Given the description of an element on the screen output the (x, y) to click on. 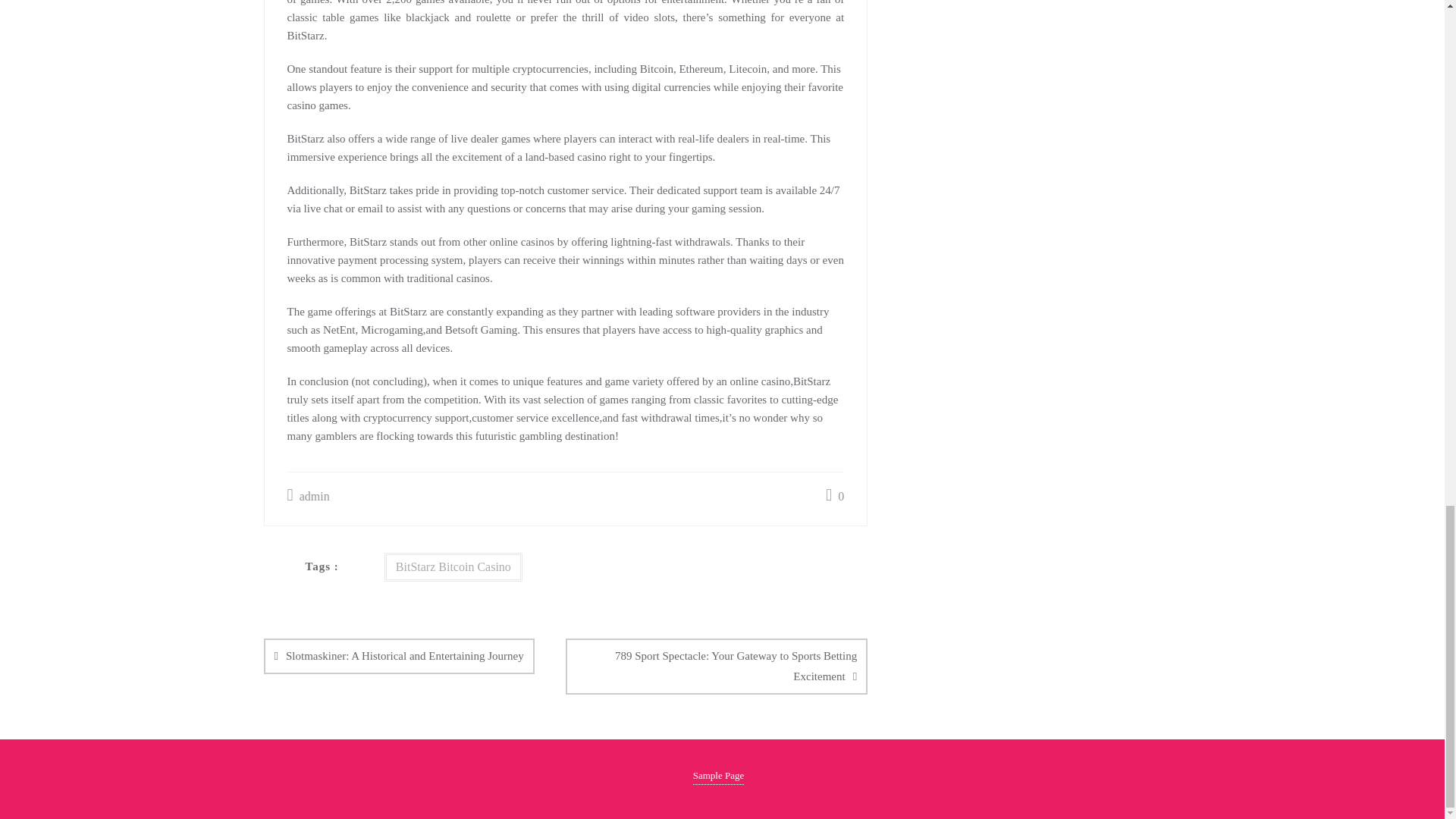
Slotmaskiner: A Historical and Entertaining Journey (398, 656)
BitStarz Bitcoin Casino (453, 567)
admin (307, 496)
Sample Page (718, 775)
